Given the description of an element on the screen output the (x, y) to click on. 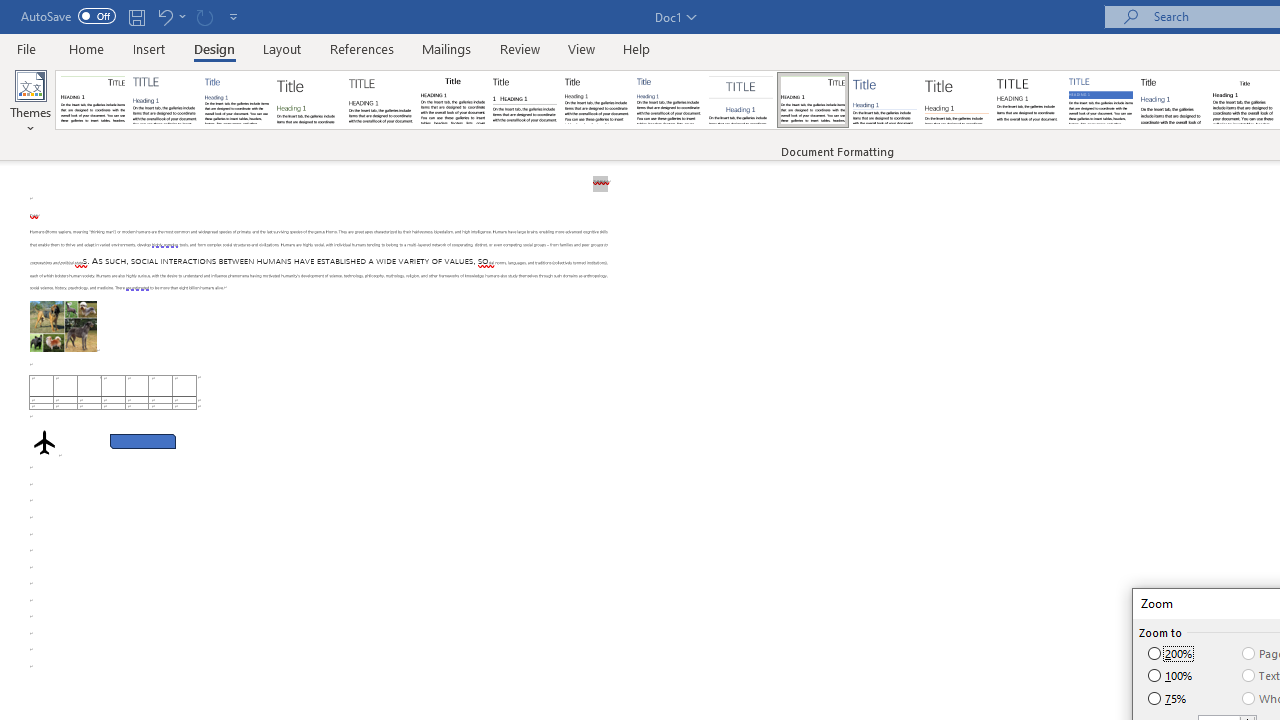
Minimalist (1028, 100)
Lines (Distinctive) (812, 100)
Word (1172, 100)
Document (93, 100)
Black & White (Capitalized) (381, 100)
Undo Apply Quick Style Set (164, 15)
Lines (Simple) (884, 100)
Casual (669, 100)
Basic (Simple) (236, 100)
